Given the description of an element on the screen output the (x, y) to click on. 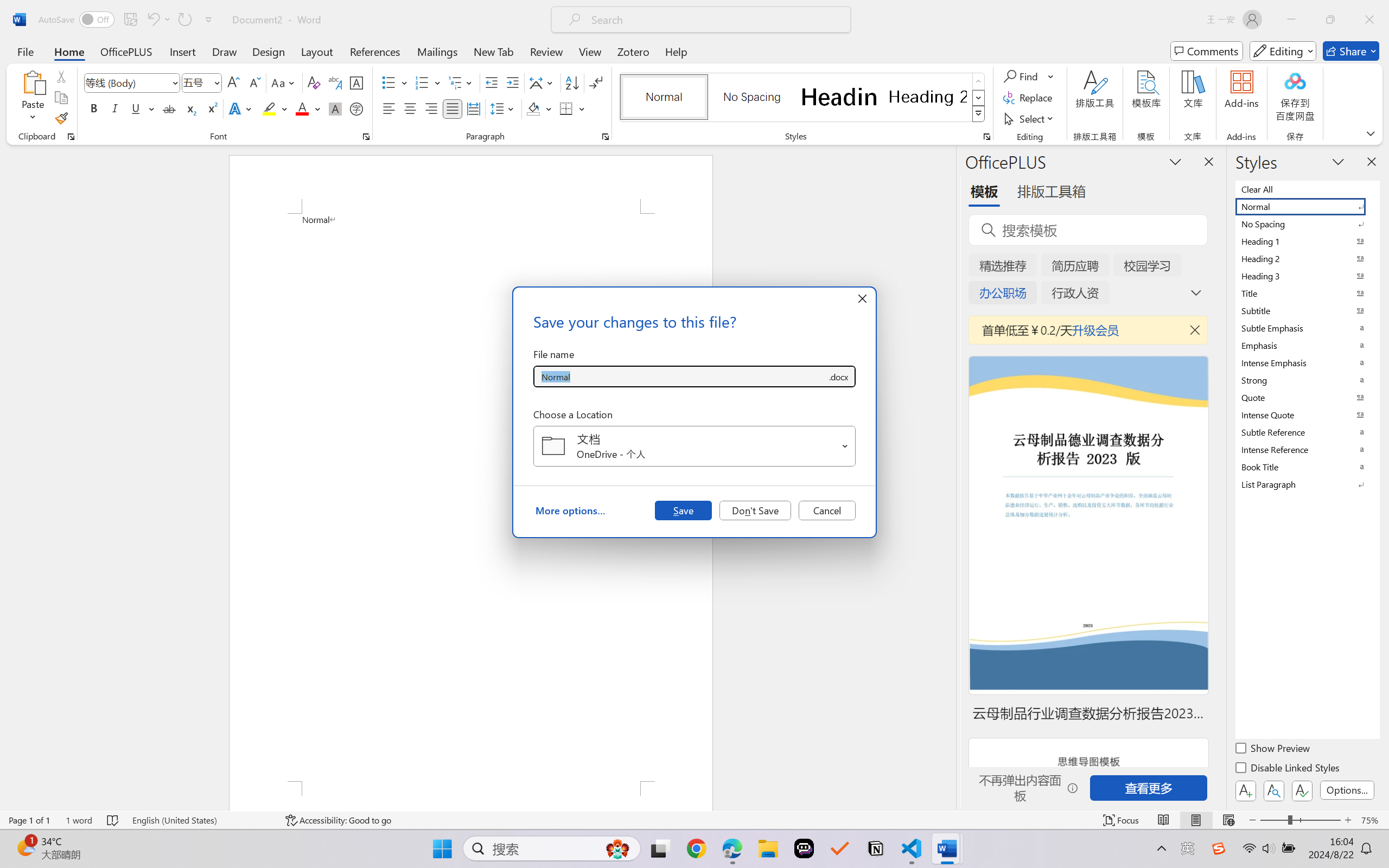
Subscript (190, 108)
Word Count 1 word (78, 819)
Task Pane Options (1175, 161)
AutoSave (76, 19)
View (589, 51)
References (375, 51)
Phonetic Guide... (334, 82)
Decrease Indent (491, 82)
Layout (316, 51)
Row up (978, 81)
Insert (182, 51)
Web Layout (1228, 819)
